Given the description of an element on the screen output the (x, y) to click on. 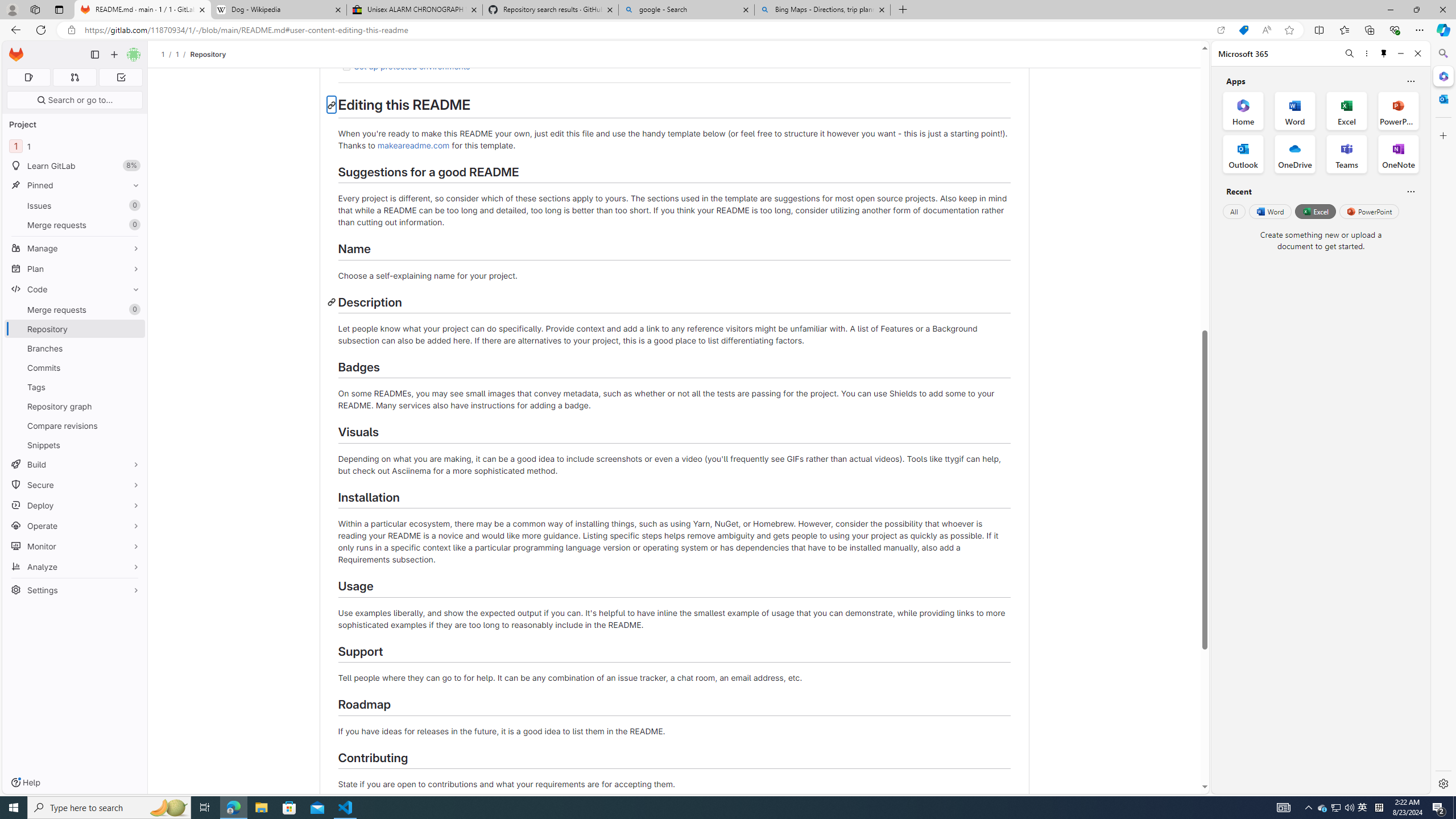
PowerPoint (1369, 210)
Plan (74, 268)
Pin Branches (132, 348)
Primary navigation sidebar (94, 54)
Analyze (74, 566)
Operate (74, 525)
Set up protected environments (411, 66)
Plan (74, 268)
Unpin Issues (132, 205)
